Given the description of an element on the screen output the (x, y) to click on. 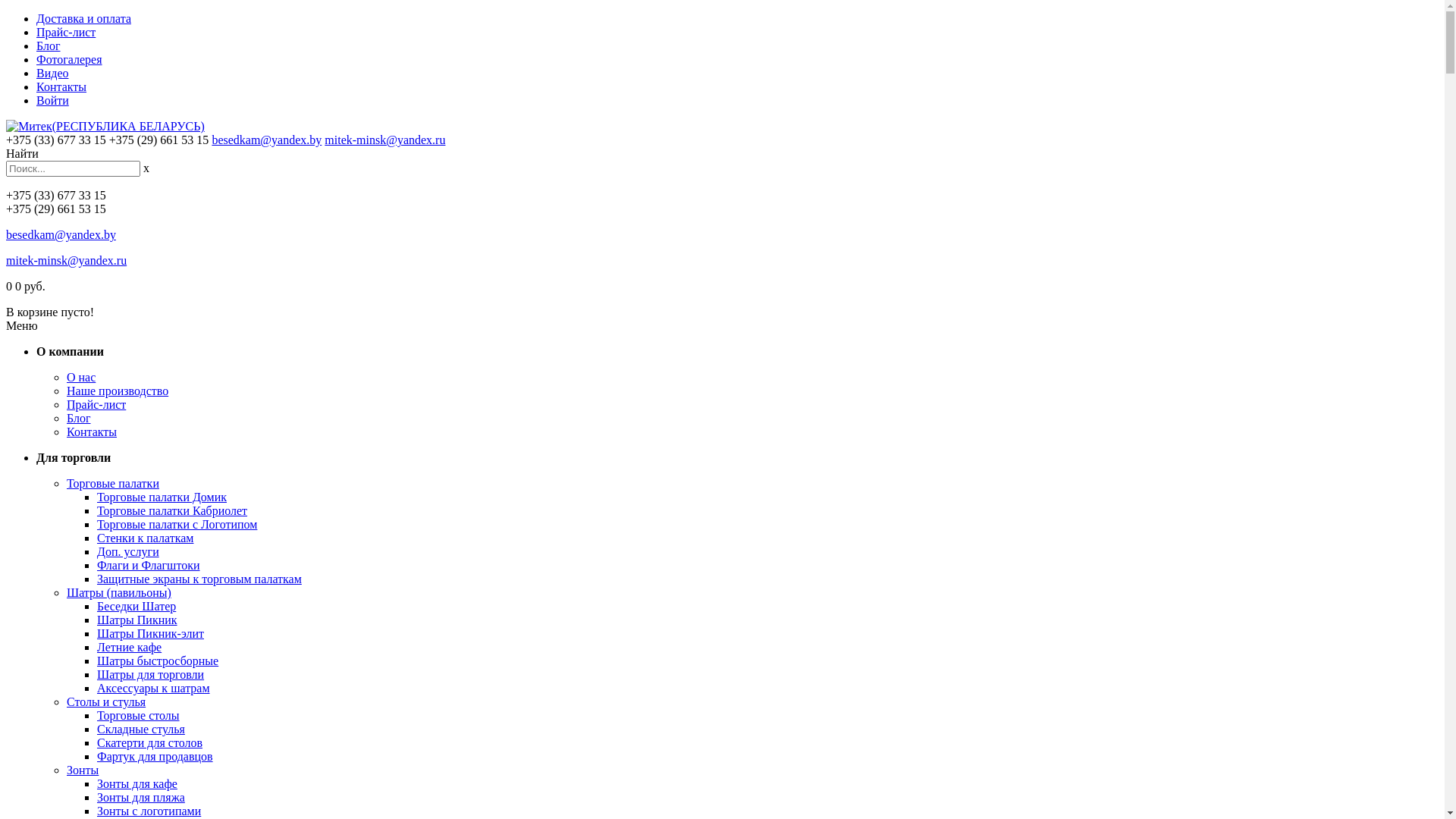
mitek-minsk@yandex.ru Element type: text (384, 139)
besedkam@yandex.by Element type: text (266, 139)
besedkam@yandex.by Element type: text (61, 234)
mitek-minsk@yandex.ru Element type: text (66, 260)
